Given the description of an element on the screen output the (x, y) to click on. 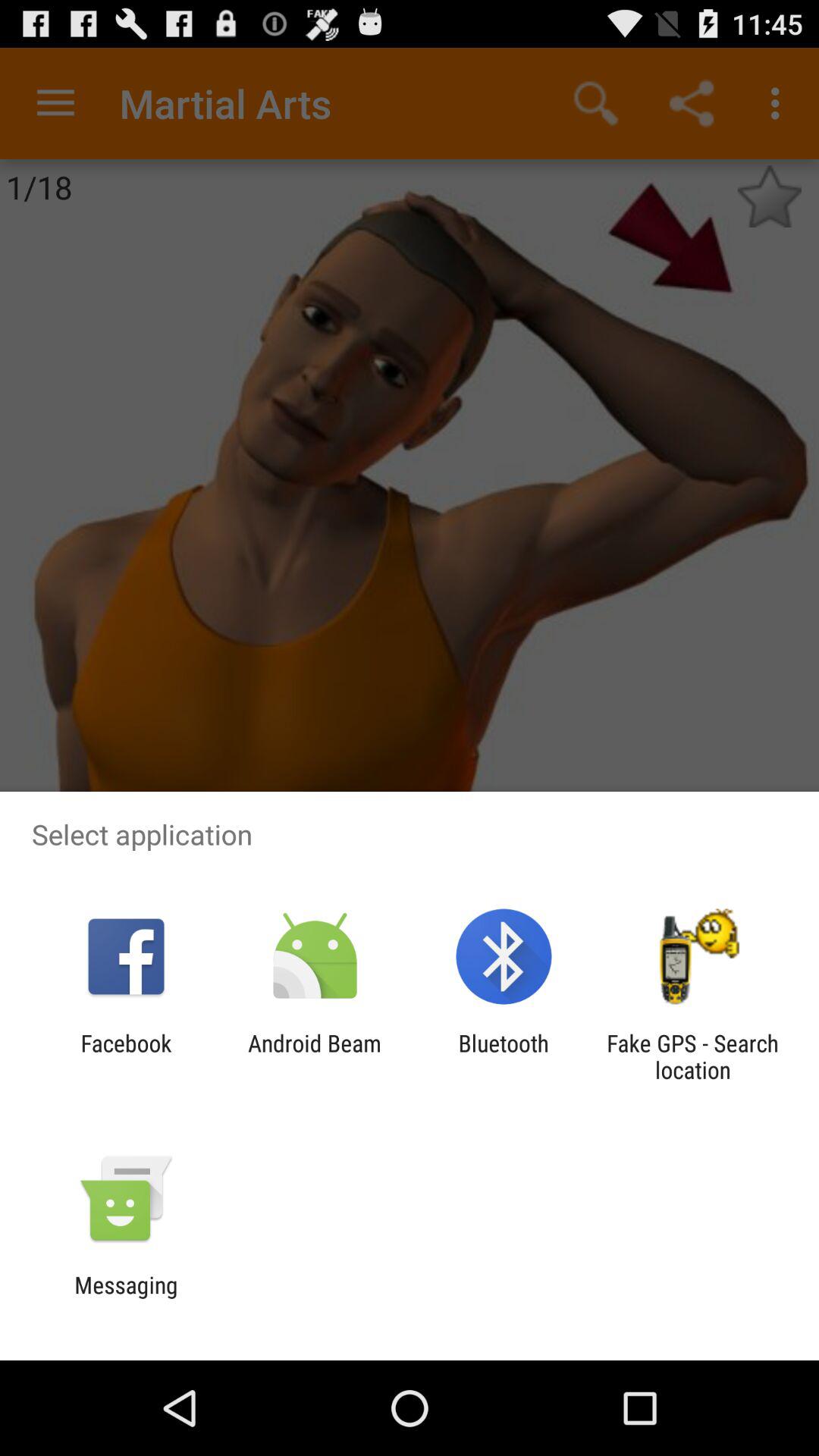
choose the item to the right of the facebook app (314, 1056)
